Given the description of an element on the screen output the (x, y) to click on. 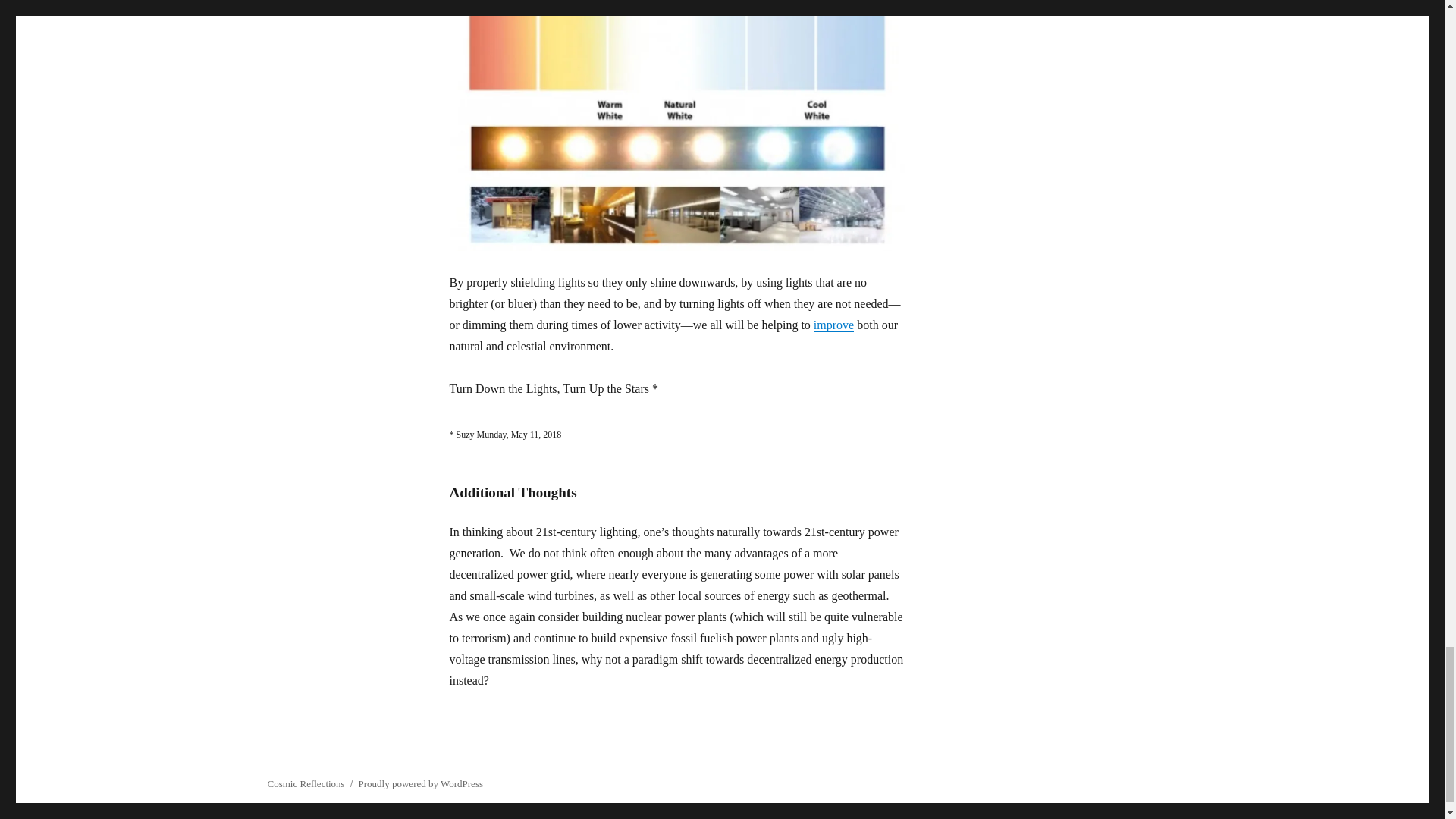
improve (833, 324)
